Given the description of an element on the screen output the (x, y) to click on. 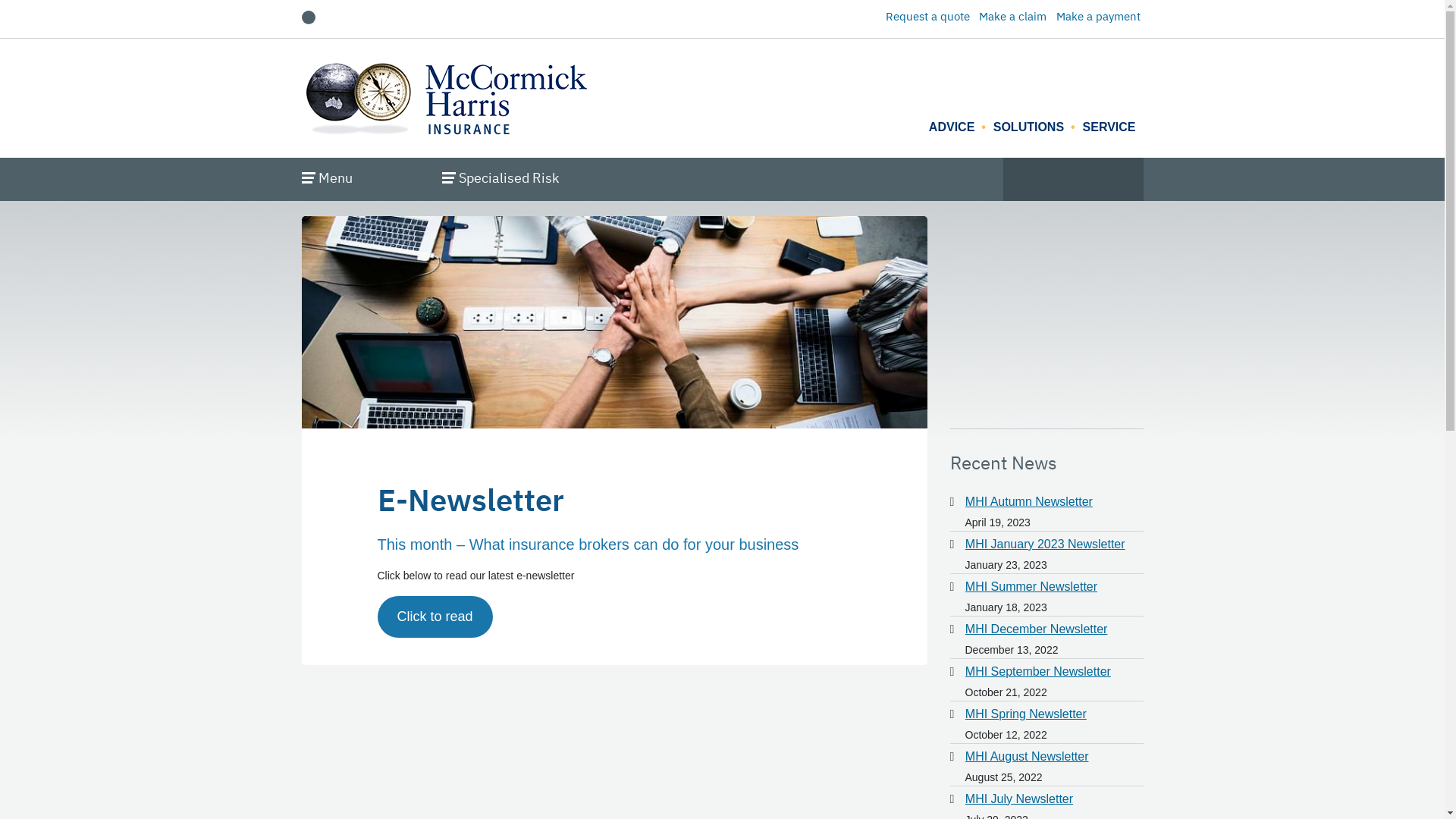
MHI September Newsletter Element type: text (1037, 671)
Make a claim Element type: text (1012, 16)
MHI Autumn Newsletter Element type: text (1028, 501)
Click to read Element type: text (434, 616)
MHI December Newsletter Element type: text (1036, 629)
MHI Summer Newsletter Element type: text (1031, 586)
Request a quote Element type: text (927, 16)
MHI Spring Newsletter Element type: text (1025, 714)
MHI August Newsletter Element type: text (1026, 756)
Make a payment Element type: text (1097, 16)
MHI July Newsletter Element type: text (1019, 799)
MHI January 2023 Newsletter Element type: text (1045, 544)
